Given the description of an element on the screen output the (x, y) to click on. 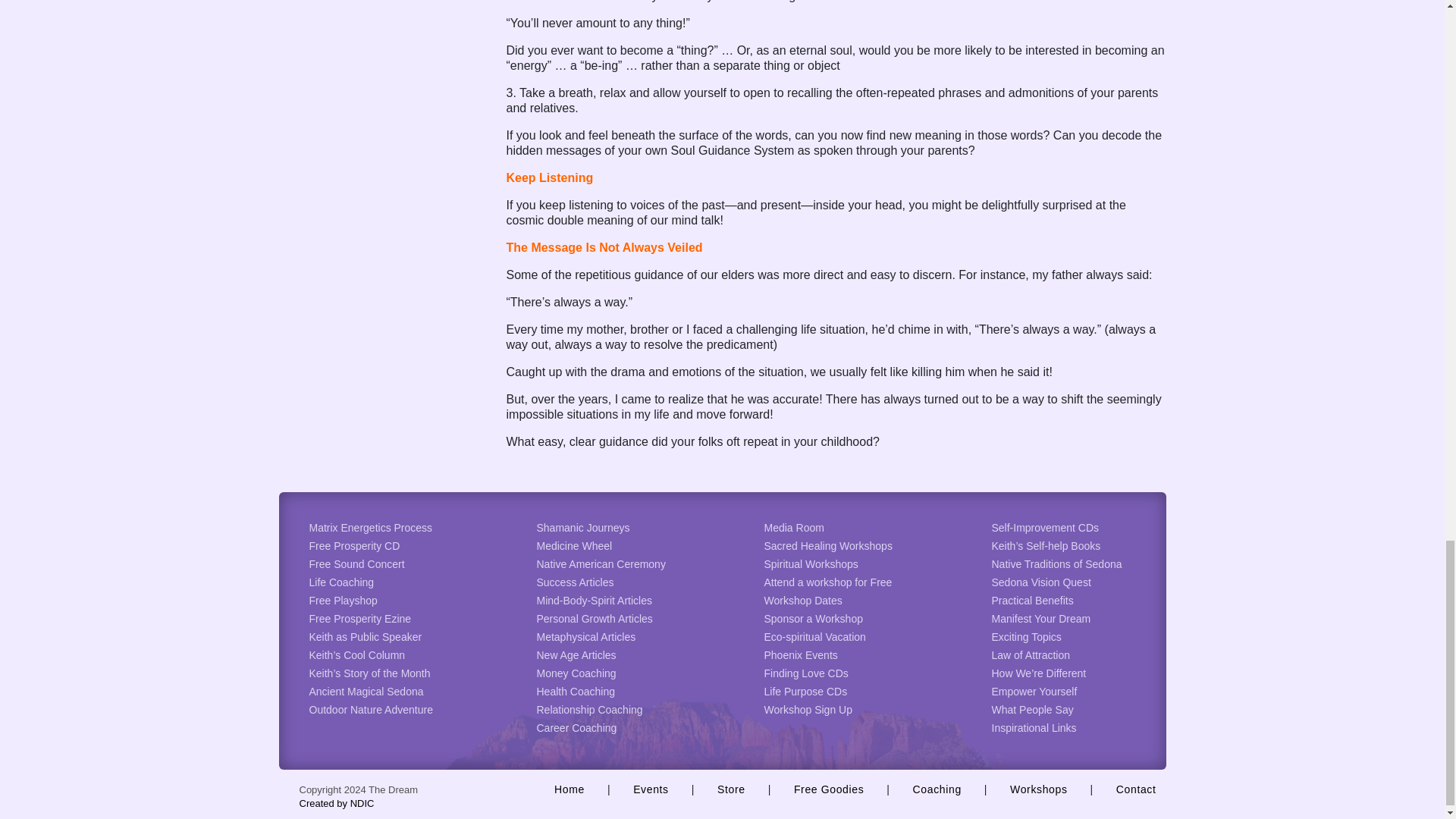
Medicine Wheel (574, 545)
Keith as Public Speaker (365, 636)
Free Prosperity Ezine (360, 618)
Ancient Magical Sedona (365, 691)
Life Coaching (341, 582)
Shamanic Journeys (583, 527)
Success Articles (575, 582)
Personal Growth Articles (594, 618)
Free Prosperity CD (354, 545)
Mind-Body-Spirit Articles (594, 600)
Native American Ceremony (601, 563)
Outdoor Nature Adventure (370, 709)
Free Sound Concert (356, 563)
Free Playshop (342, 600)
Matrix Energetics Process (370, 527)
